Given the description of an element on the screen output the (x, y) to click on. 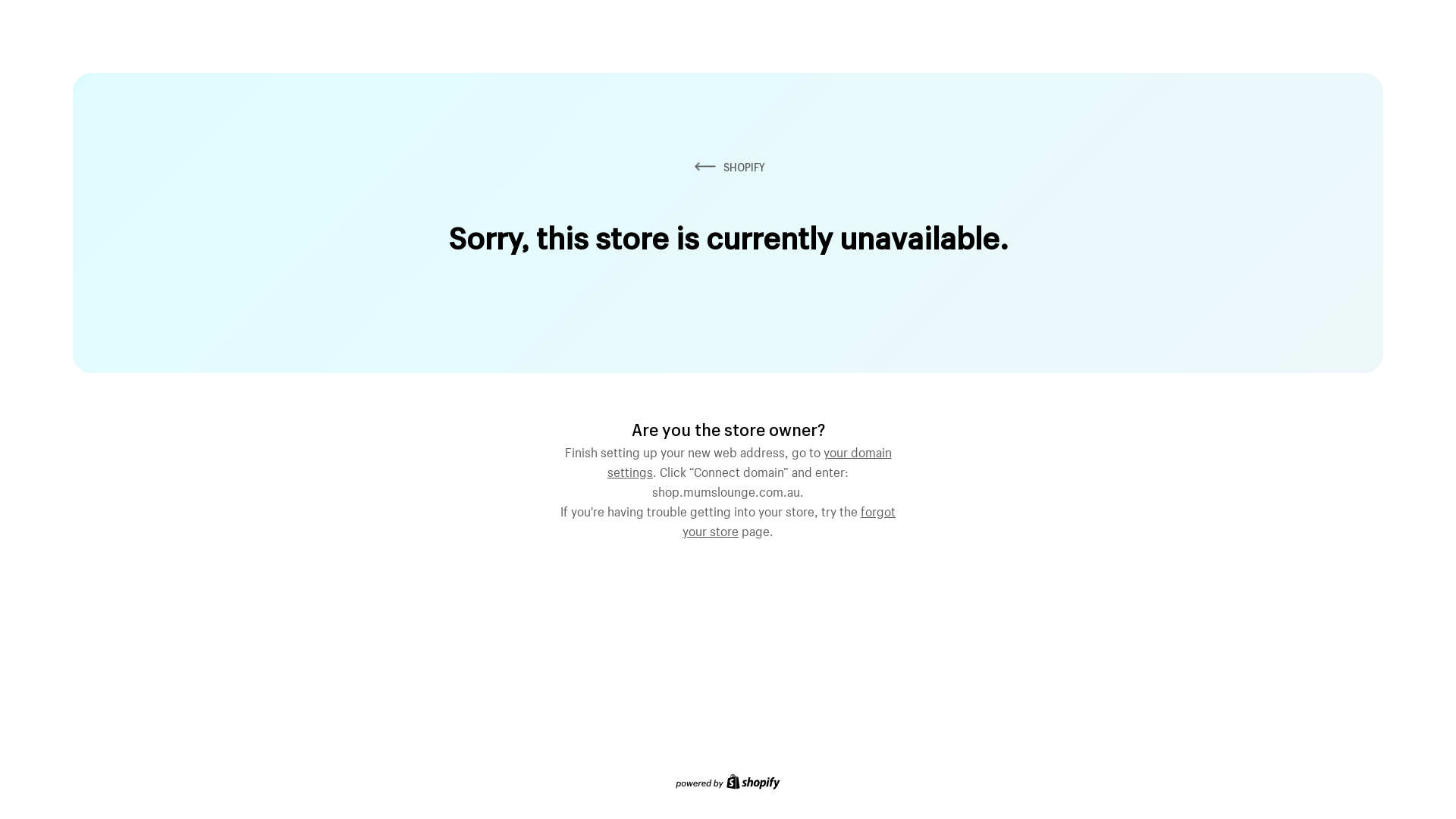
your domain settings Element type: text (749, 460)
SHOPIFY Element type: text (727, 167)
forgot your store Element type: text (788, 519)
